Given the description of an element on the screen output the (x, y) to click on. 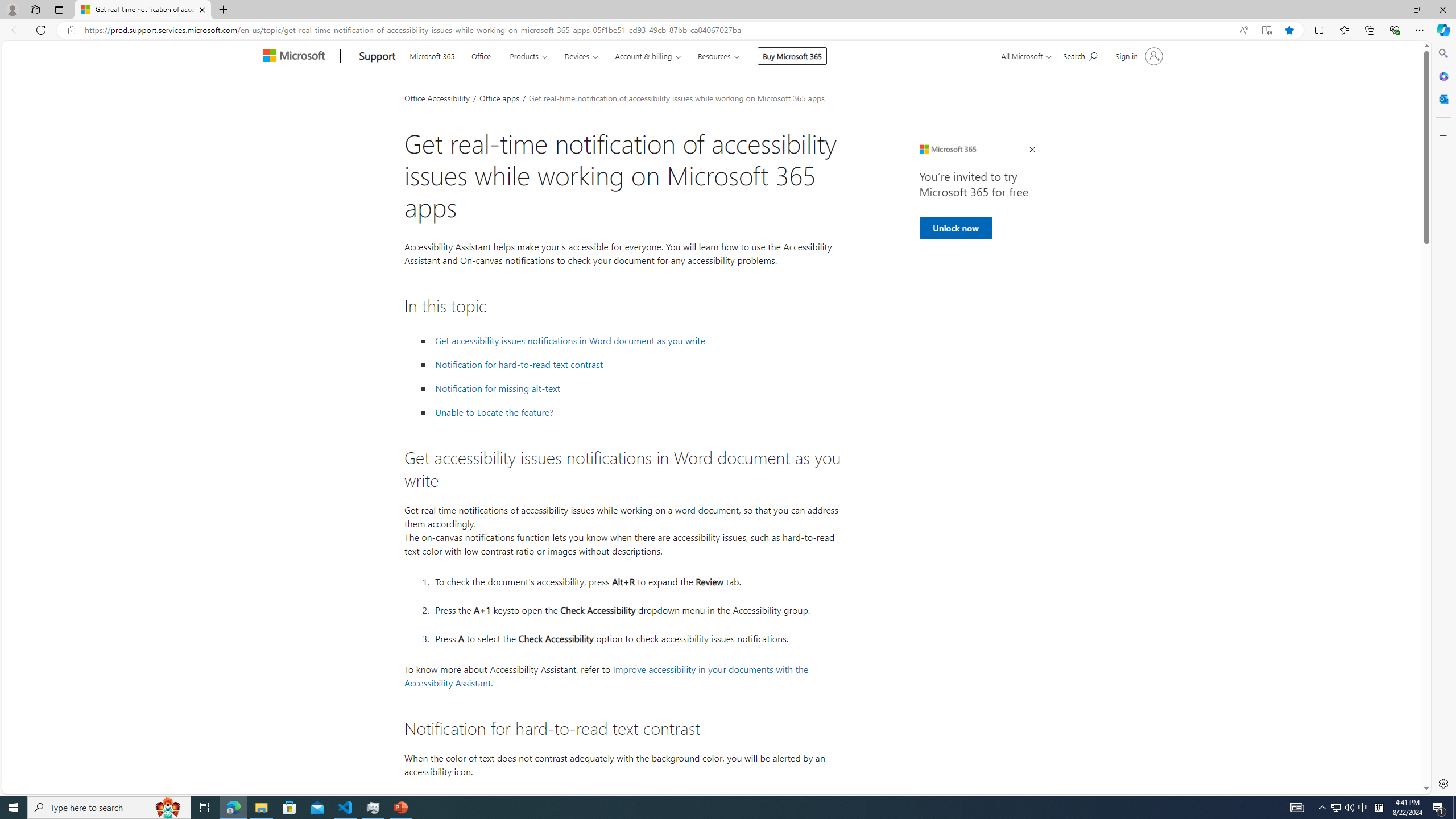
Office (480, 54)
